Given the description of an element on the screen output the (x, y) to click on. 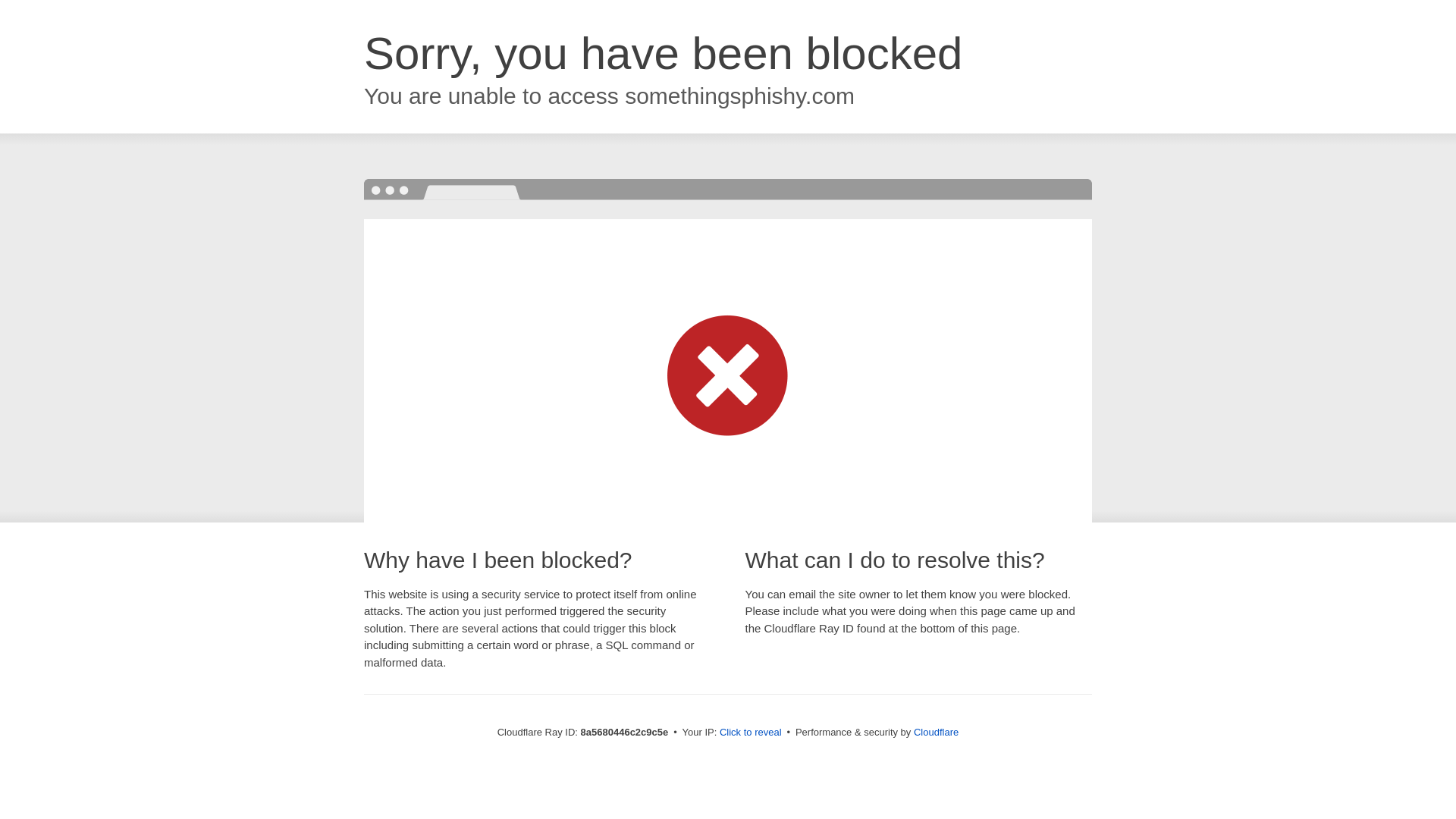
Click to reveal (750, 732)
Cloudflare (936, 731)
